Given the description of an element on the screen output the (x, y) to click on. 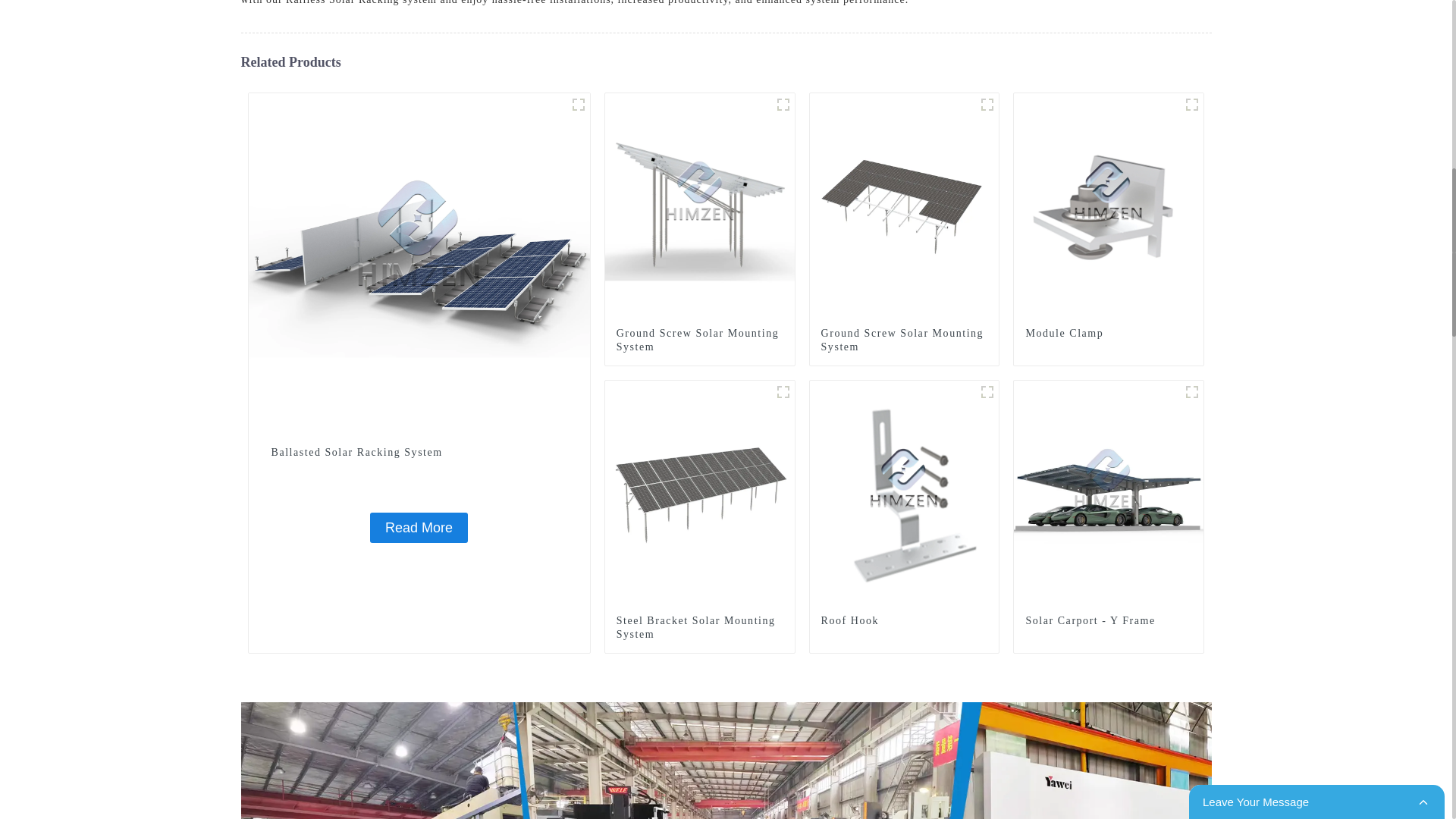
Ground Screw Solar Mounting System (903, 206)
Module Clamp (1108, 333)
Roof Hook (903, 494)
Module Clamp (1192, 104)
Roof Hook (904, 621)
3-Ground-screw-solar-mounting (782, 104)
Ballasted Solar Racking System (418, 262)
1-Ballasted-Flat-Roof -system (578, 104)
Ground Screw Solar Mounting System (904, 339)
Steel Bracket Solar Mounting System (699, 627)
